Given the description of an element on the screen output the (x, y) to click on. 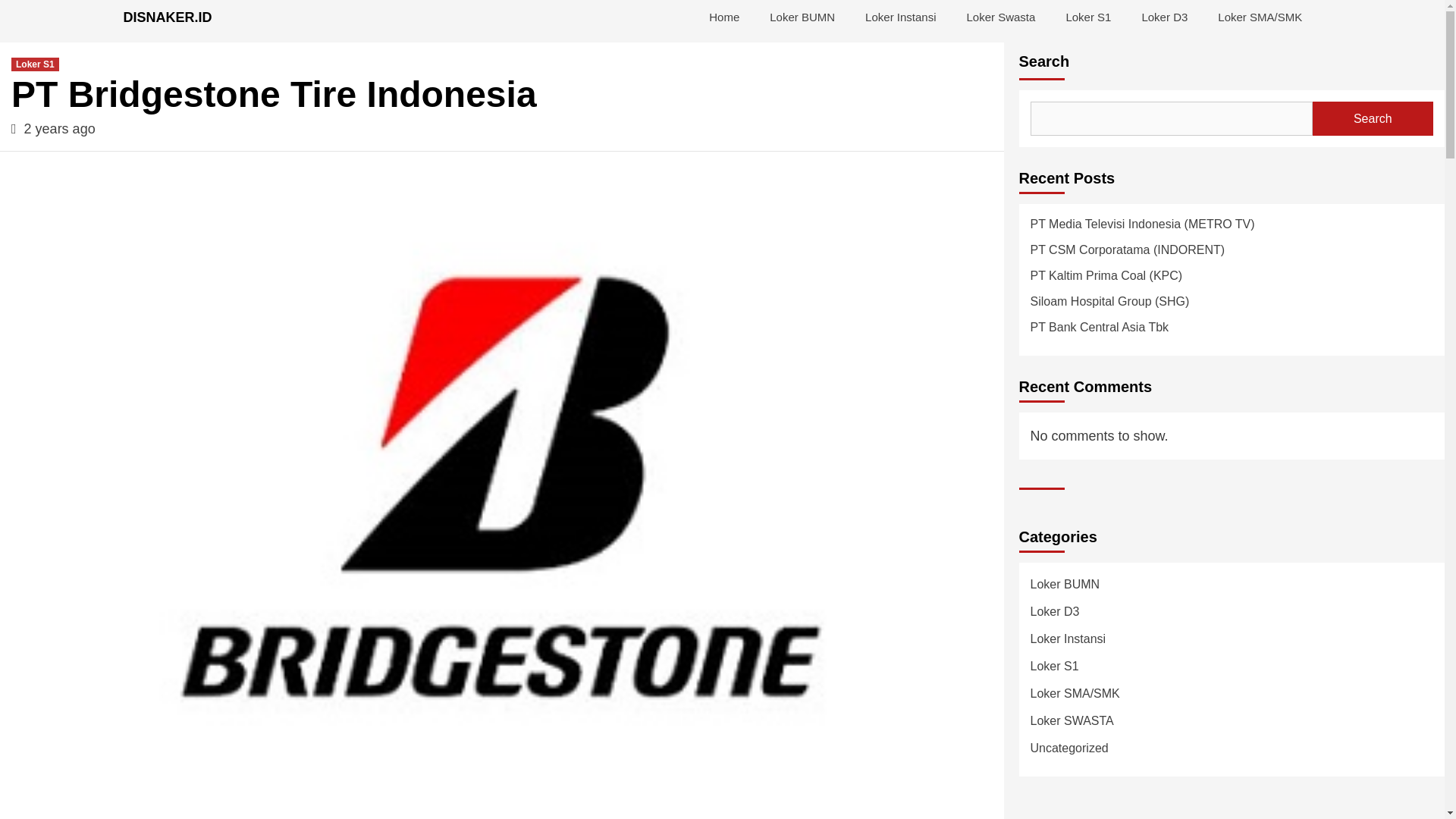
Loker S1 (1087, 17)
Home (724, 17)
Loker Instansi (900, 17)
Search (1372, 118)
Loker D3 (1163, 17)
Loker Swasta (999, 17)
Loker BUMN (802, 17)
2 years ago (60, 128)
Loker S1 (35, 64)
